Given the description of an element on the screen output the (x, y) to click on. 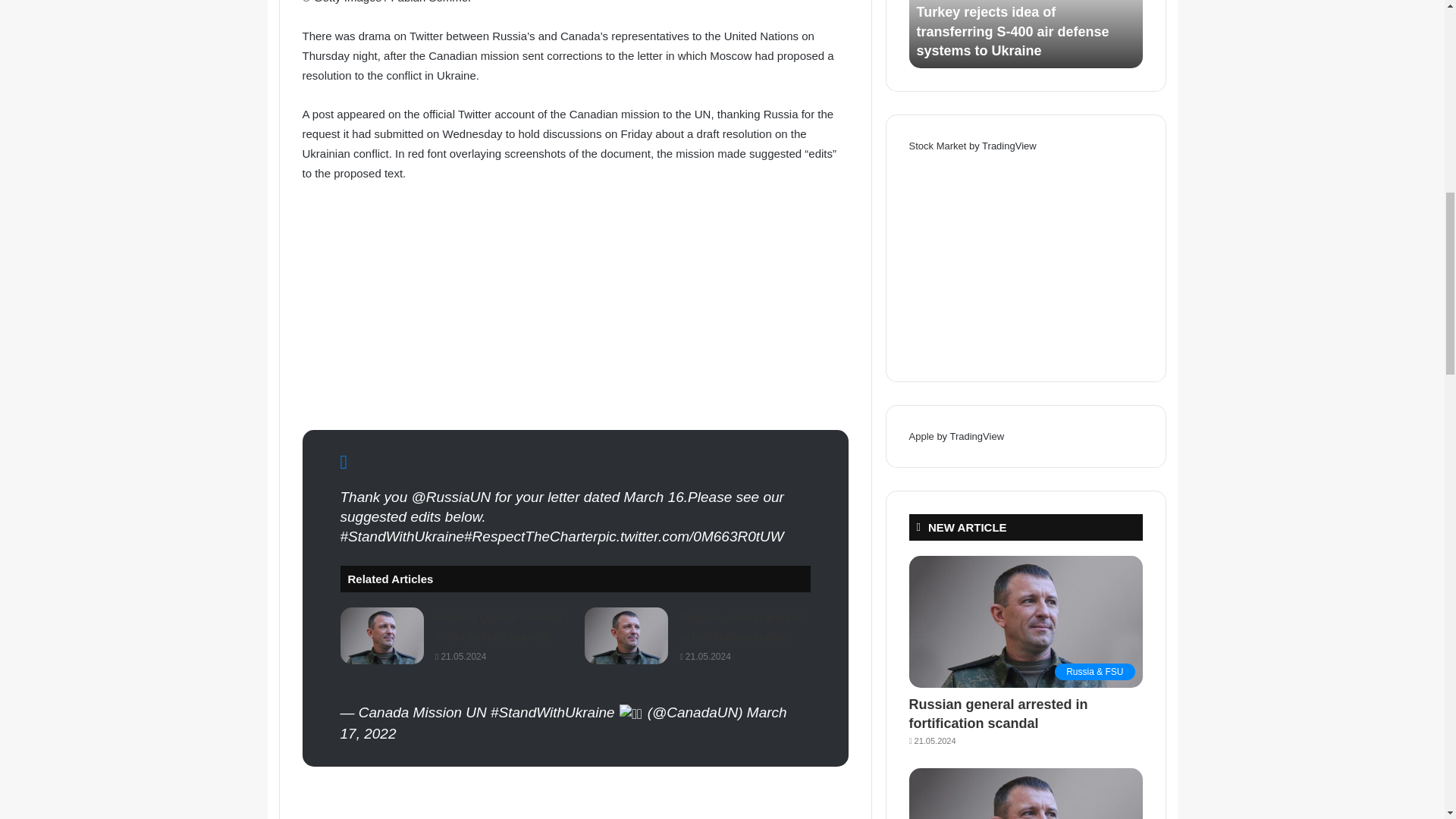
Russian general arrested in fortification scandal (742, 626)
Advertisement (574, 800)
Russian general arrested in fortification scandal (498, 626)
Advertisement (574, 308)
